Given the description of an element on the screen output the (x, y) to click on. 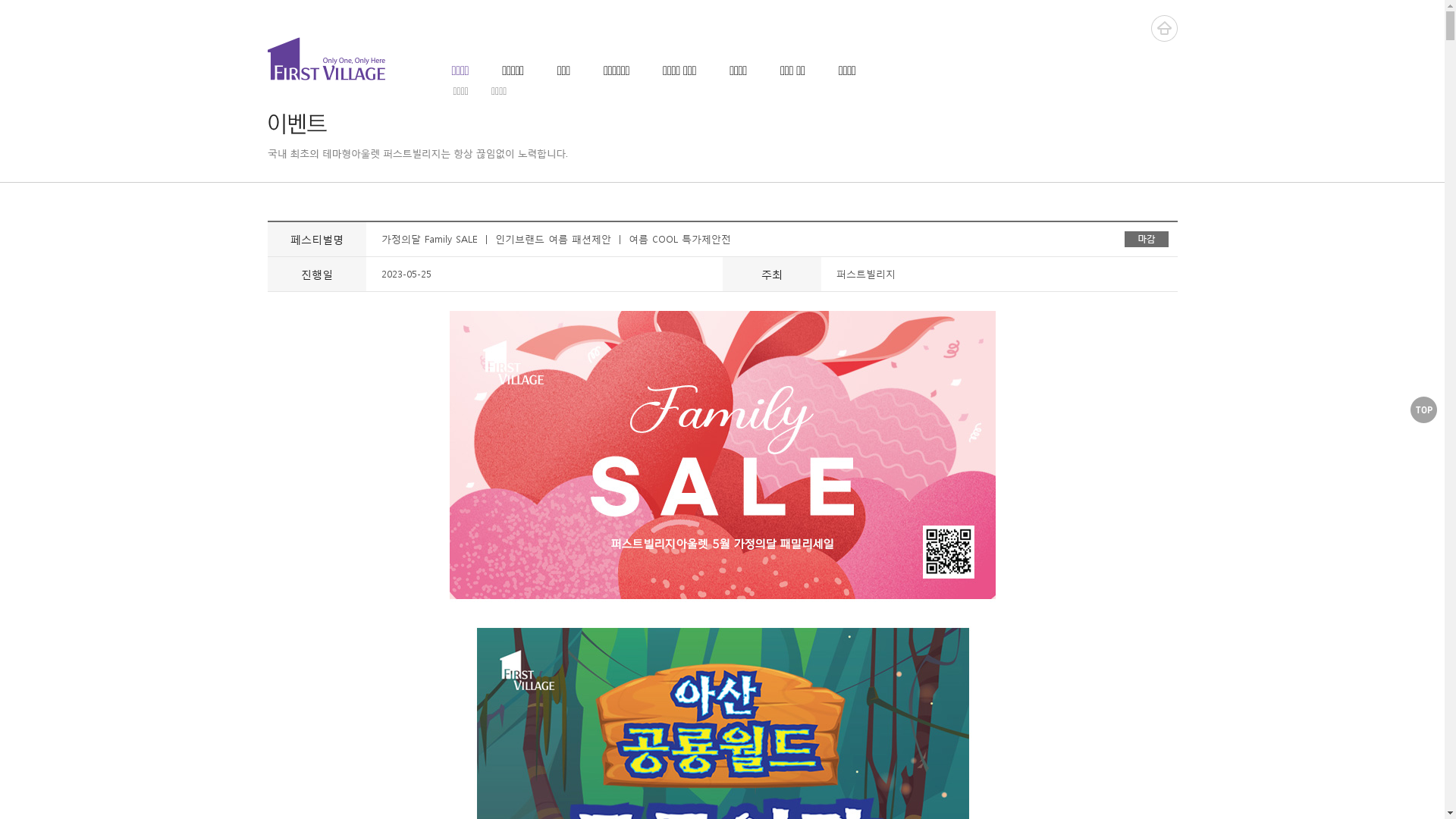
HOME Element type: text (1164, 28)
FIRST VILLAGE Element type: text (325, 58)
